Given the description of an element on the screen output the (x, y) to click on. 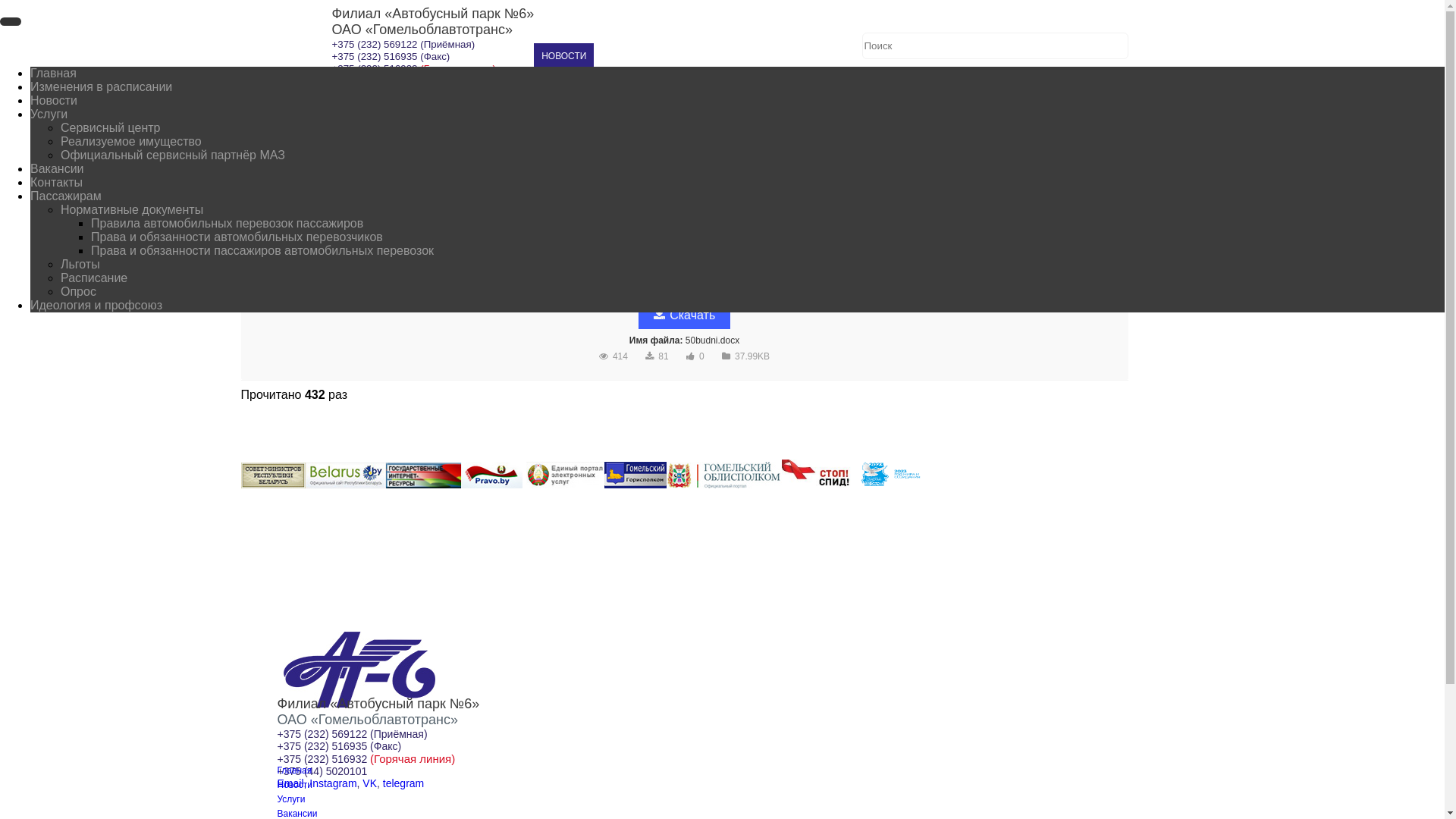
Email Element type: text (290, 783)
Instagram Element type: text (332, 783)
telegram Element type: text (402, 783)
VK Element type: text (369, 783)
